Given the description of an element on the screen output the (x, y) to click on. 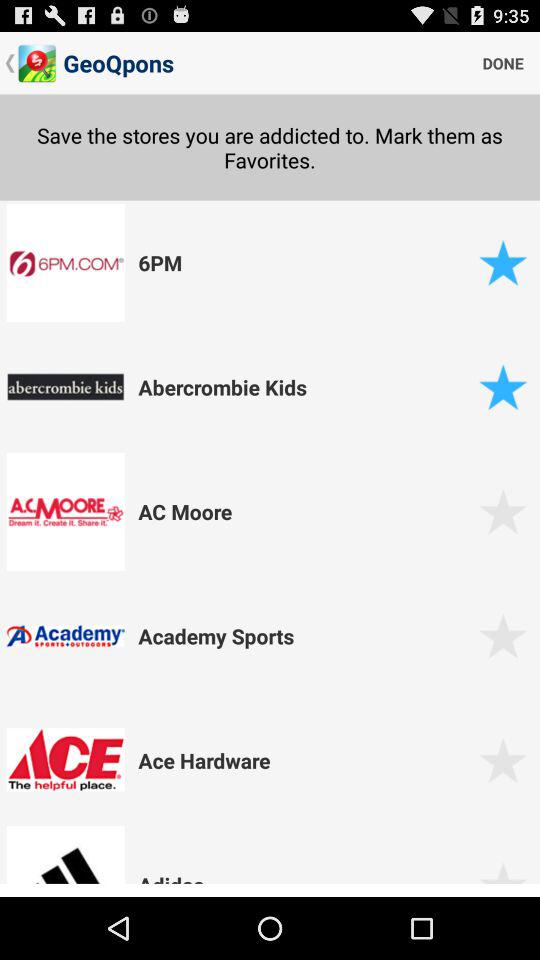
if a.c. morre is a favorite store of yours click the blinking box and highlight the star blue (502, 511)
